Given the description of an element on the screen output the (x, y) to click on. 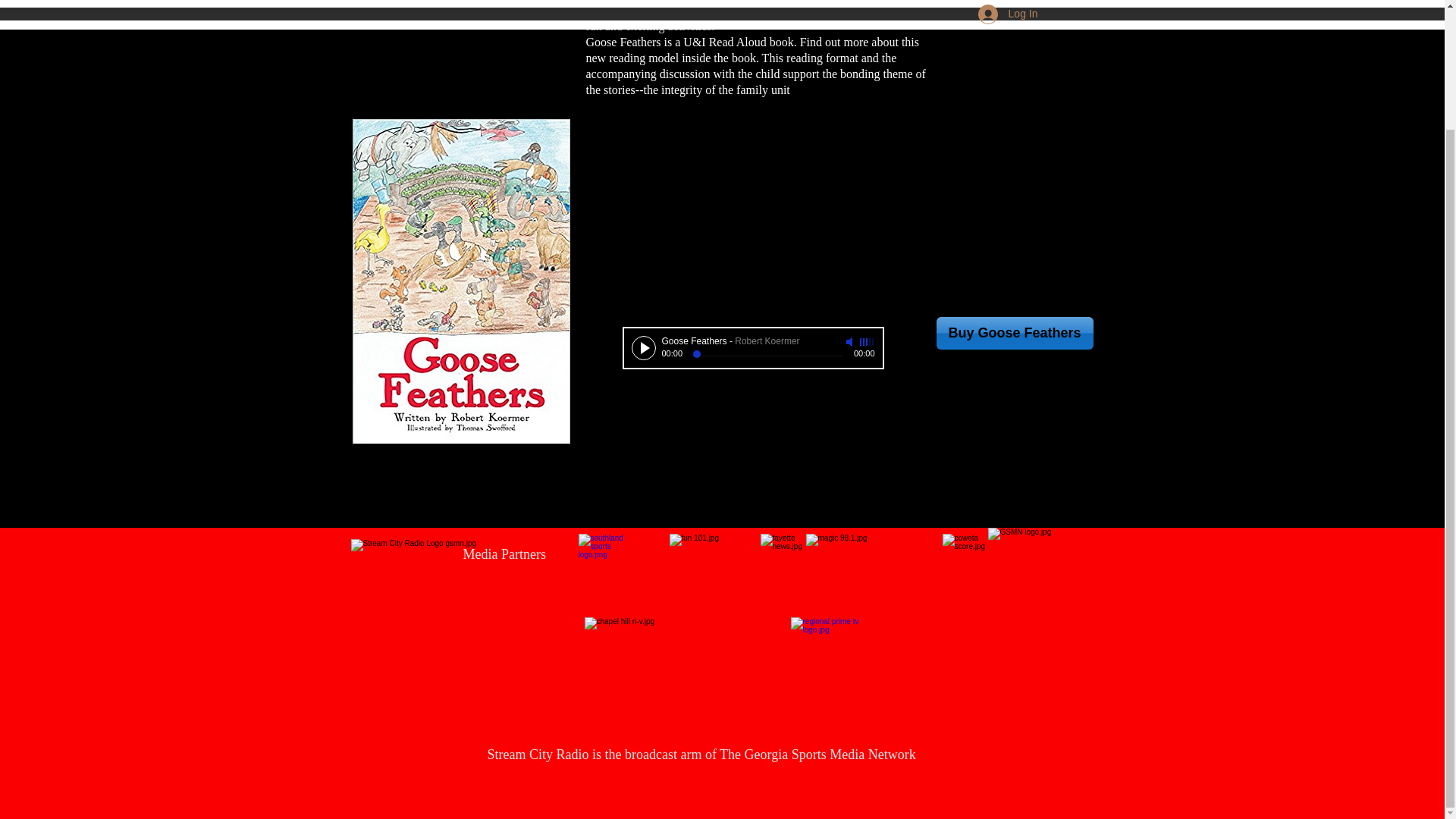
External YouTube (756, 216)
0 (768, 354)
Buy Goose Feathers (1014, 332)
